Given the description of an element on the screen output the (x, y) to click on. 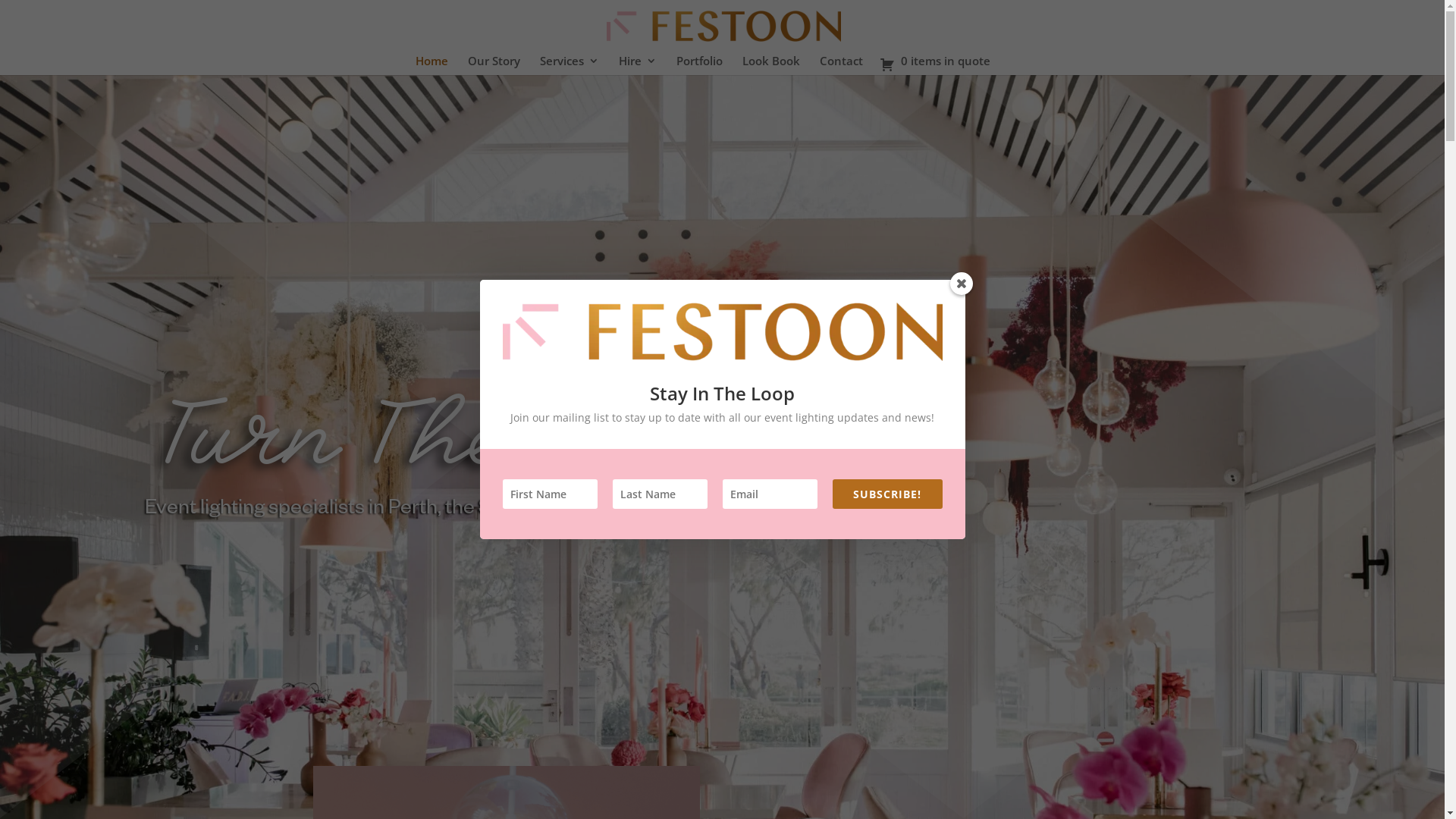
Hire Element type: text (637, 65)
Services Element type: text (569, 65)
Portfolio Element type: text (699, 65)
Our Story Element type: text (493, 65)
Contact Element type: text (840, 65)
Look Book Element type: text (770, 65)
SUBSCRIBE! Element type: text (887, 493)
Home Element type: text (431, 65)
0 items in quote Element type: text (934, 59)
